Given the description of an element on the screen output the (x, y) to click on. 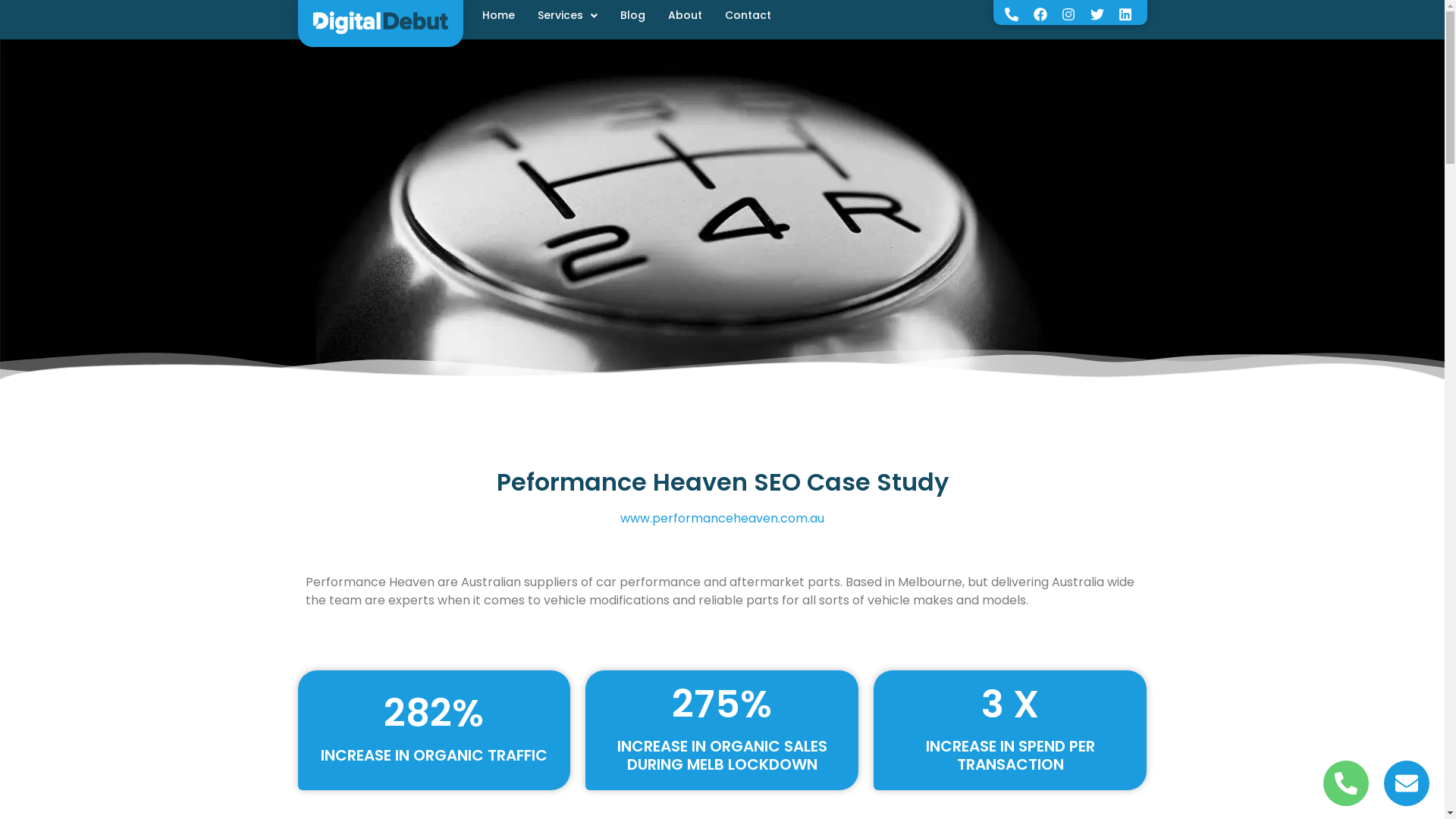
Home Element type: text (498, 13)
www.performanceheaven.com.au Element type: text (722, 518)
Contact Element type: text (747, 13)
Services Element type: text (566, 13)
About Element type: text (684, 13)
Blog Element type: text (632, 13)
